Given the description of an element on the screen output the (x, y) to click on. 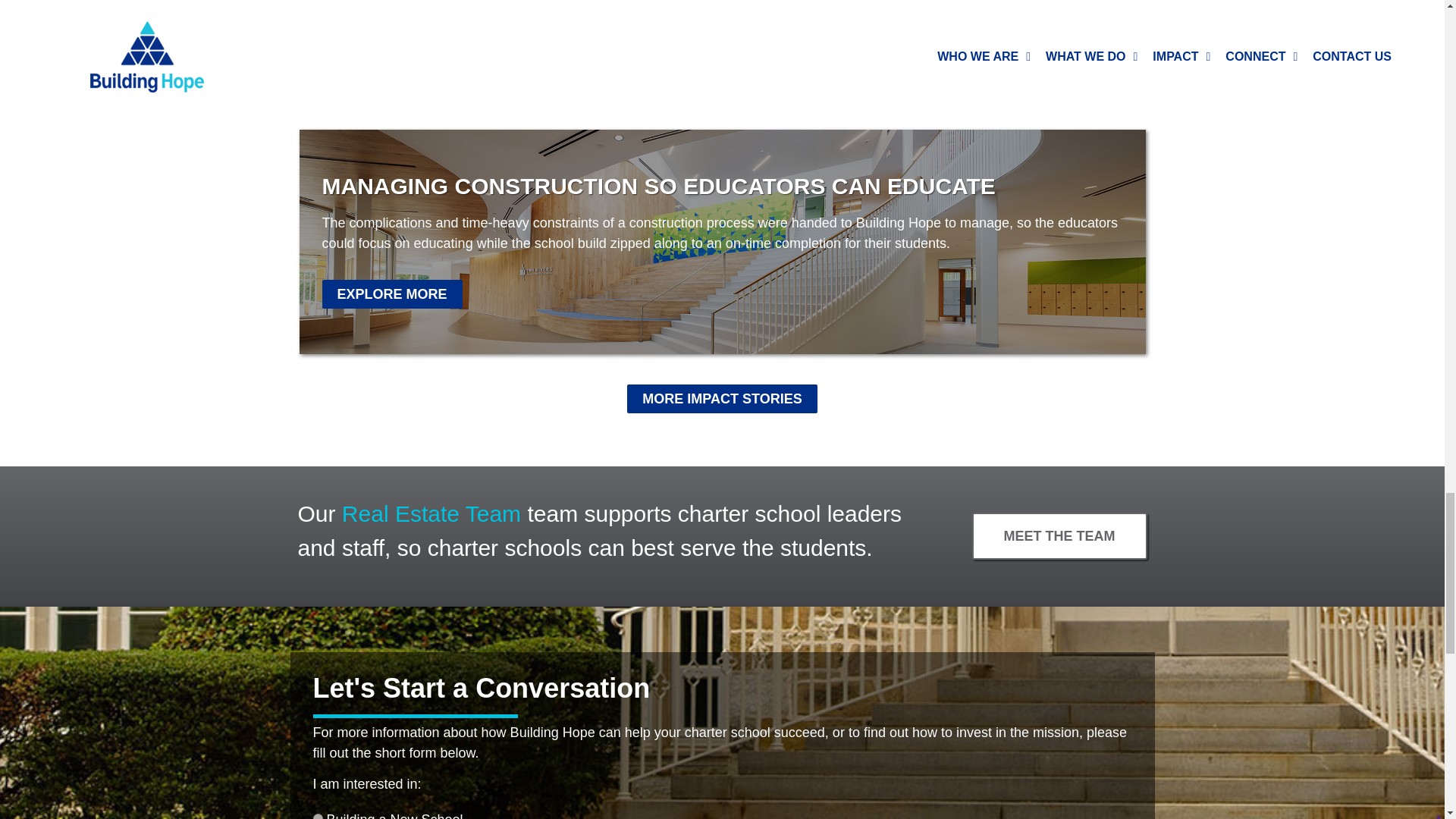
Building a New School (317, 816)
